Given the description of an element on the screen output the (x, y) to click on. 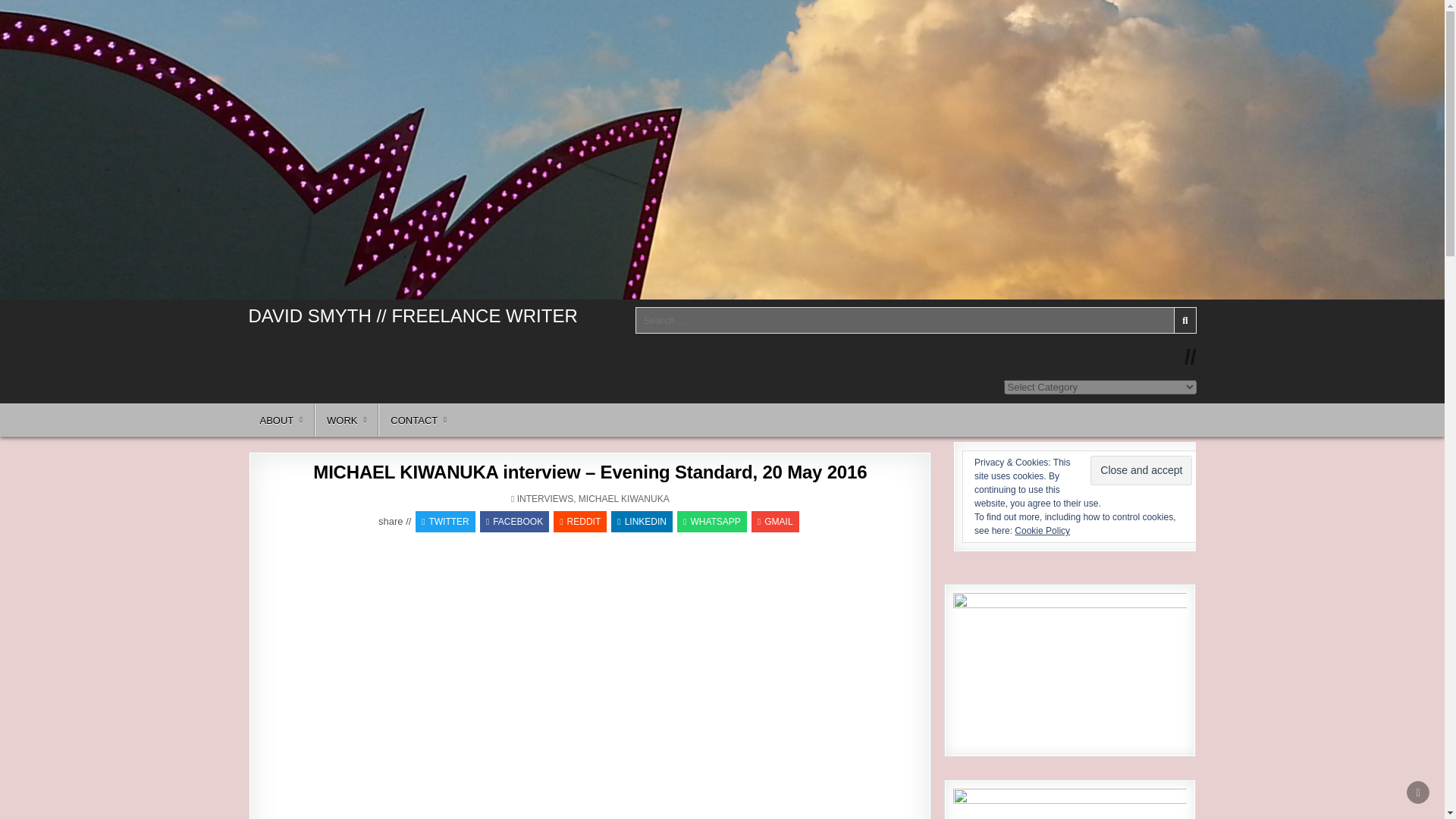
Share this on Reddit (580, 521)
TWITTER (445, 521)
ABOUT (281, 420)
WORK (346, 420)
Share this on Facebook (514, 521)
REDDIT (580, 521)
Share this on WhatsApp (711, 521)
INTERVIEWS (544, 498)
CONTACT (418, 420)
Tweet This! (445, 521)
